Given the description of an element on the screen output the (x, y) to click on. 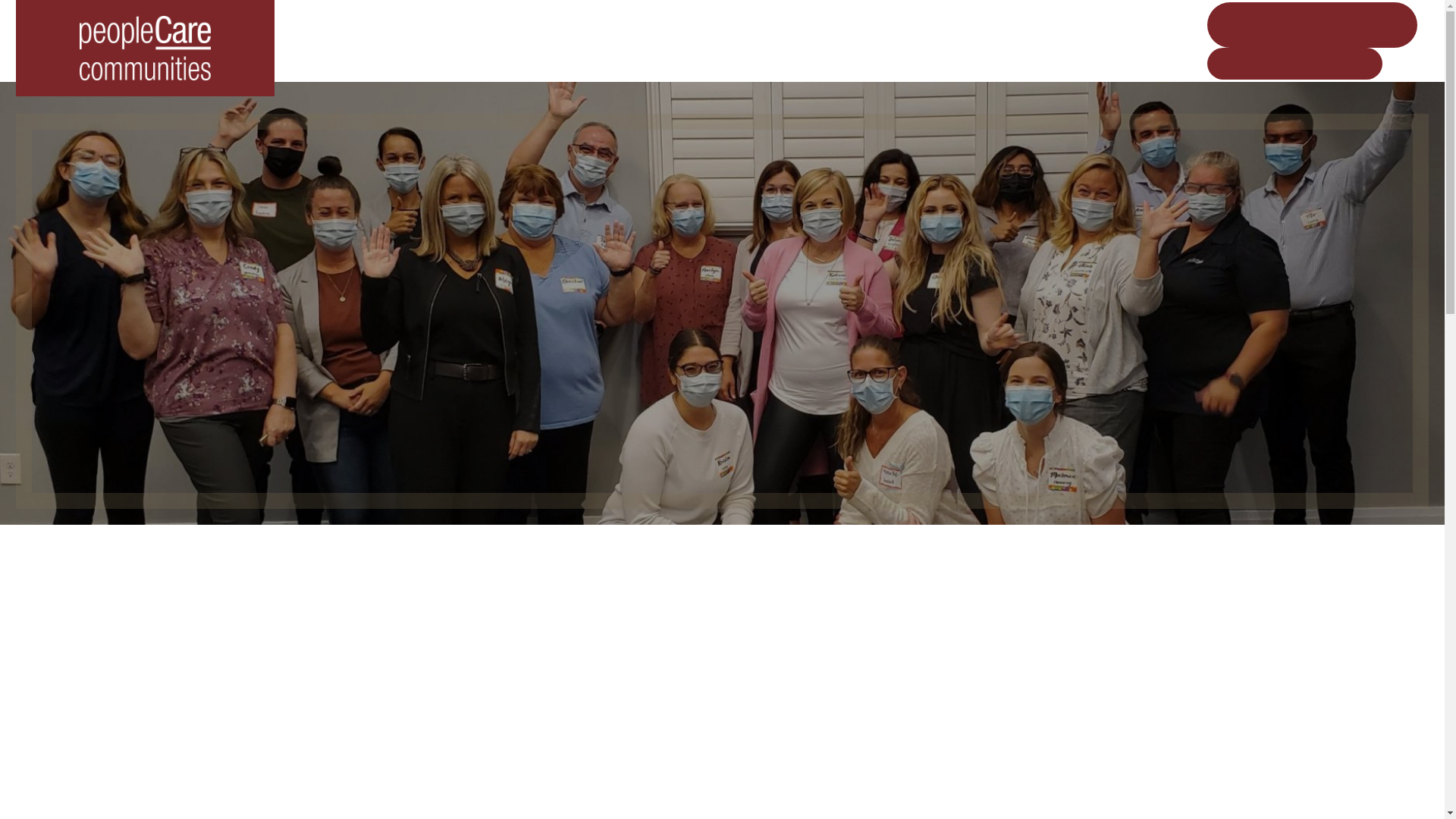
SCHEDULE YOUR TOUR (1294, 62)
REGISTER FOR GOLF TOURNAMENT (1311, 24)
